Given the description of an element on the screen output the (x, y) to click on. 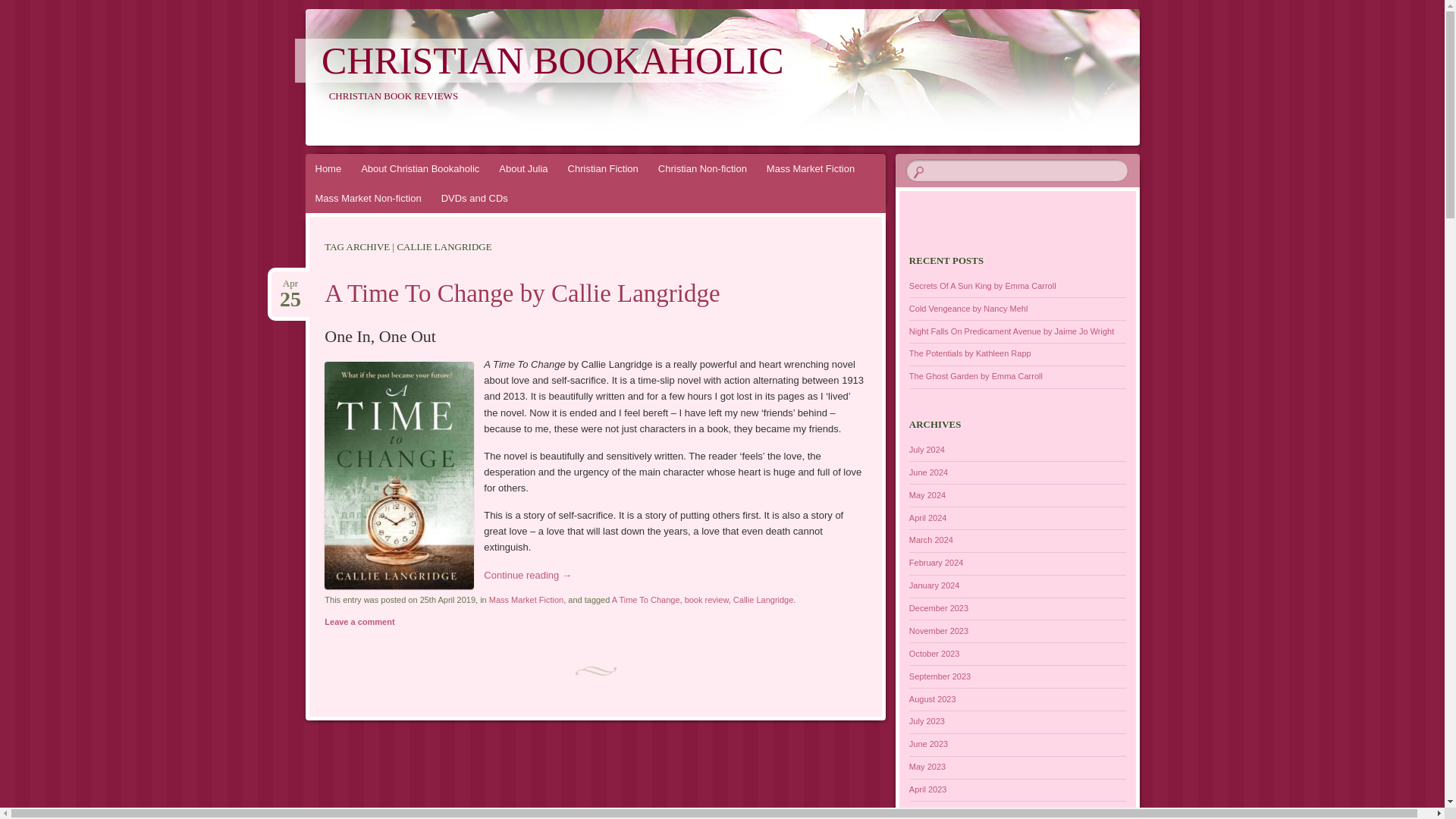
December 2023 (938, 607)
July 2024 (926, 449)
April 2024 (927, 516)
March 2024 (930, 539)
book review (706, 599)
Christian Fiction (602, 168)
Cold Vengeance by Nancy Mehl (967, 307)
DVDs and CDs (474, 197)
Mass Market Non-fiction (367, 197)
Home (327, 168)
January 2024 (933, 584)
Leave a comment (359, 621)
November 2023 (289, 283)
The Ghost Garden by Emma Carroll (938, 630)
